Given the description of an element on the screen output the (x, y) to click on. 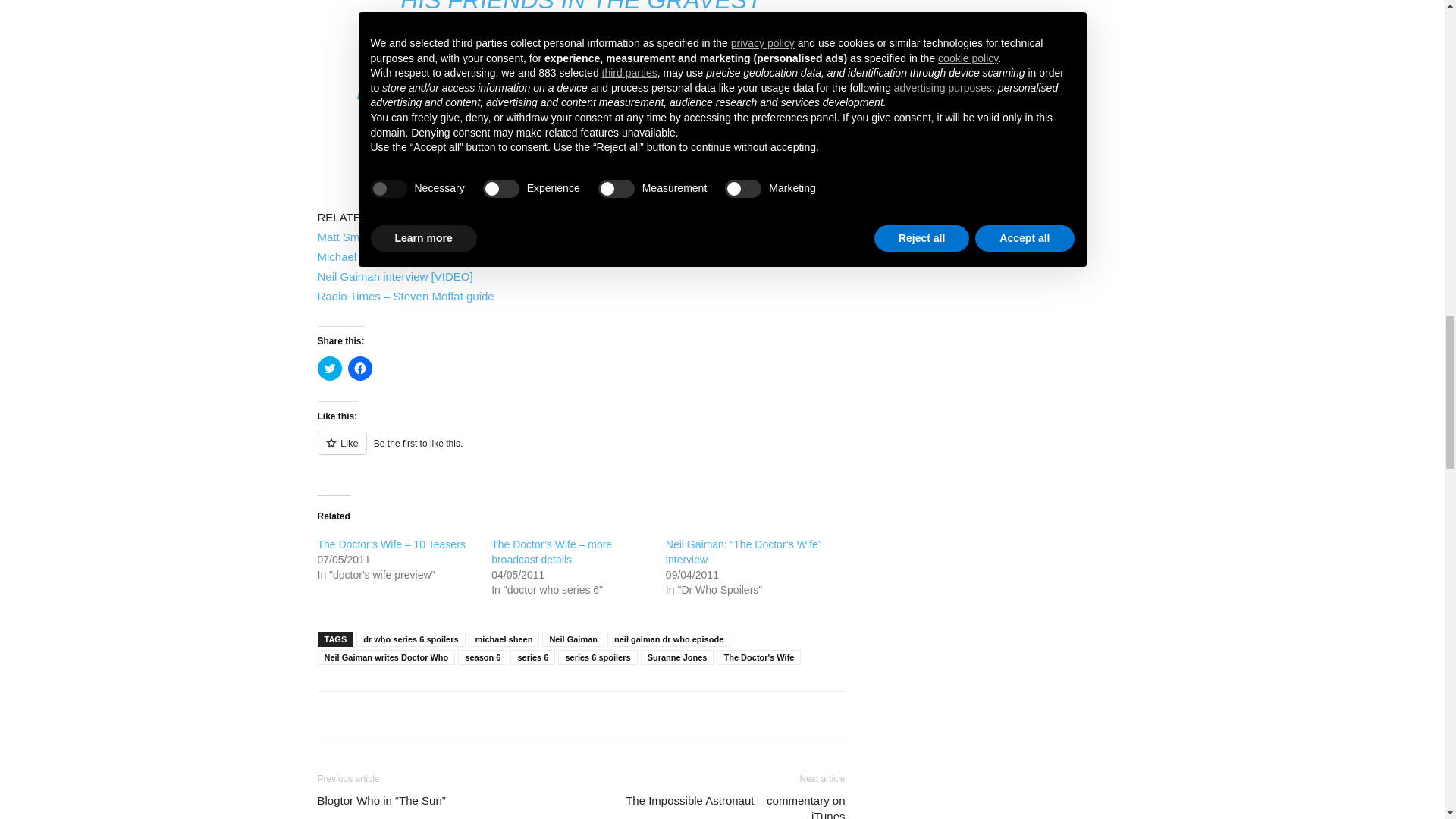
SURANNE JONES (597, 121)
Perma Link (468, 236)
